Given the description of an element on the screen output the (x, y) to click on. 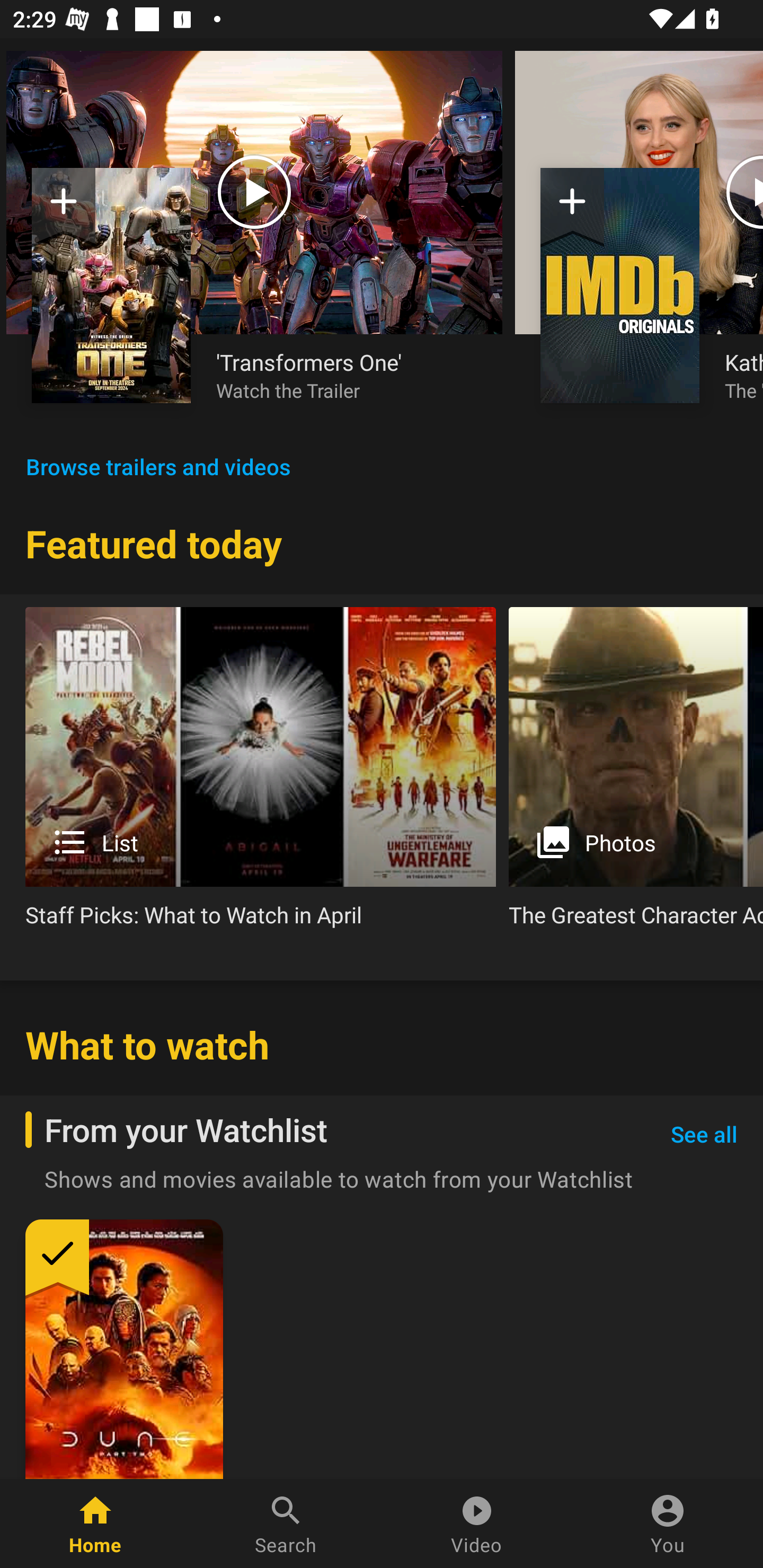
Not in watchlist (111, 284)
Not in watchlist (63, 207)
Not in watchlist (619, 284)
Not in watchlist (572, 207)
'Transformers One' Watch the Trailer (345, 374)
List Staff Picks: What to Watch in April (260, 774)
Photos The Greatest Character Actors of All Time (635, 774)
See all See all From your Watchlist (703, 1134)
Search (285, 1523)
Video (476, 1523)
You (667, 1523)
